Given the description of an element on the screen output the (x, y) to click on. 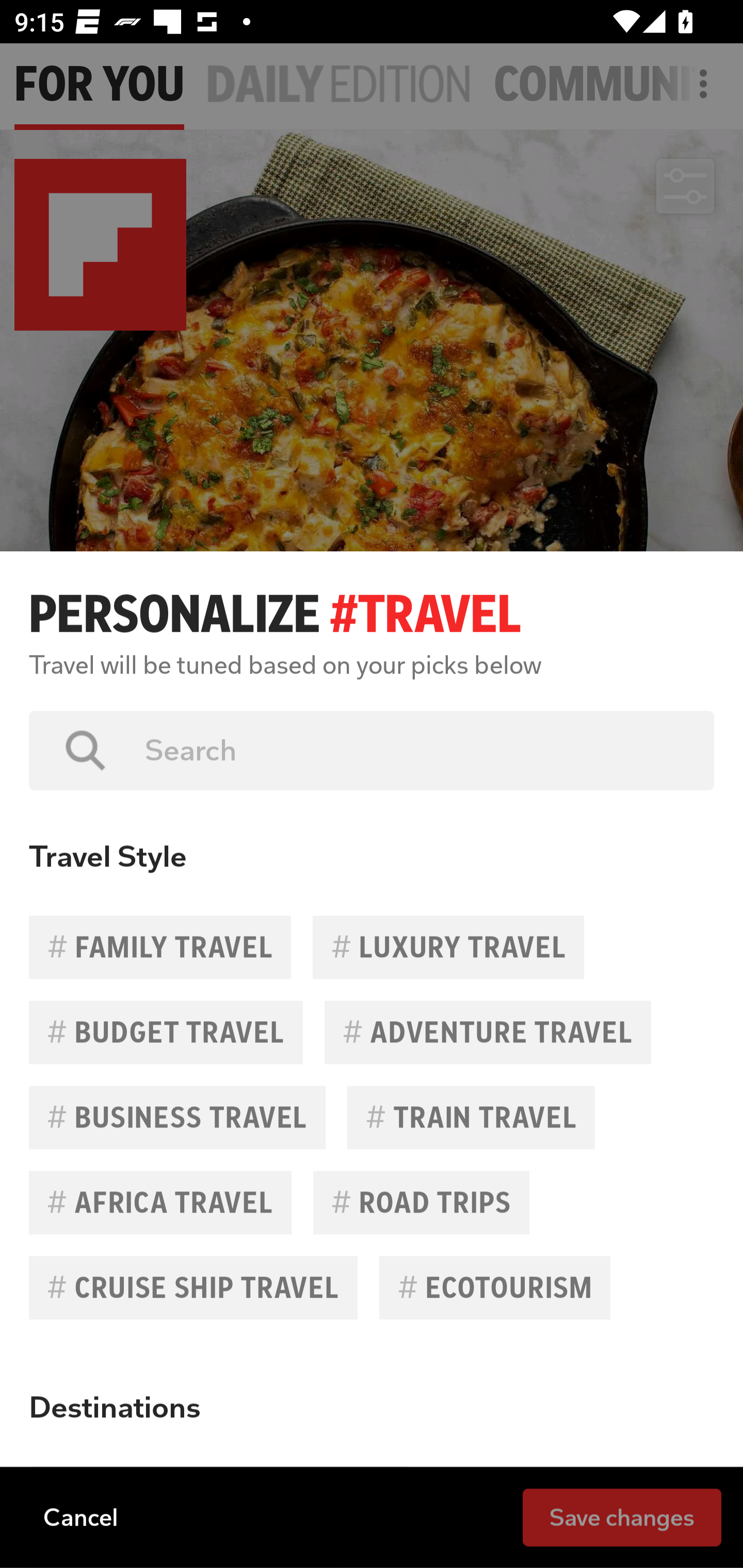
Search (414, 750)
Curated by The Food Desk (163, 882)
# FAMILY TRAVEL (159, 946)
# LUXURY TRAVEL (447, 946)
# BUDGET TRAVEL (165, 1032)
# ADVENTURE TRAVEL (487, 1032)
# BUSINESS TRAVEL (176, 1117)
# TRAIN TRAVEL (470, 1117)
# AFRICA TRAVEL (159, 1202)
# ROAD TRIPS (421, 1202)
# CRUISE SHIP TRAVEL (192, 1286)
# ECOTOURISM (494, 1286)
NPR · 11h Flip into Magazine (185, 1437)
Cancel (80, 1516)
Save changes (621, 1517)
